Given the description of an element on the screen output the (x, y) to click on. 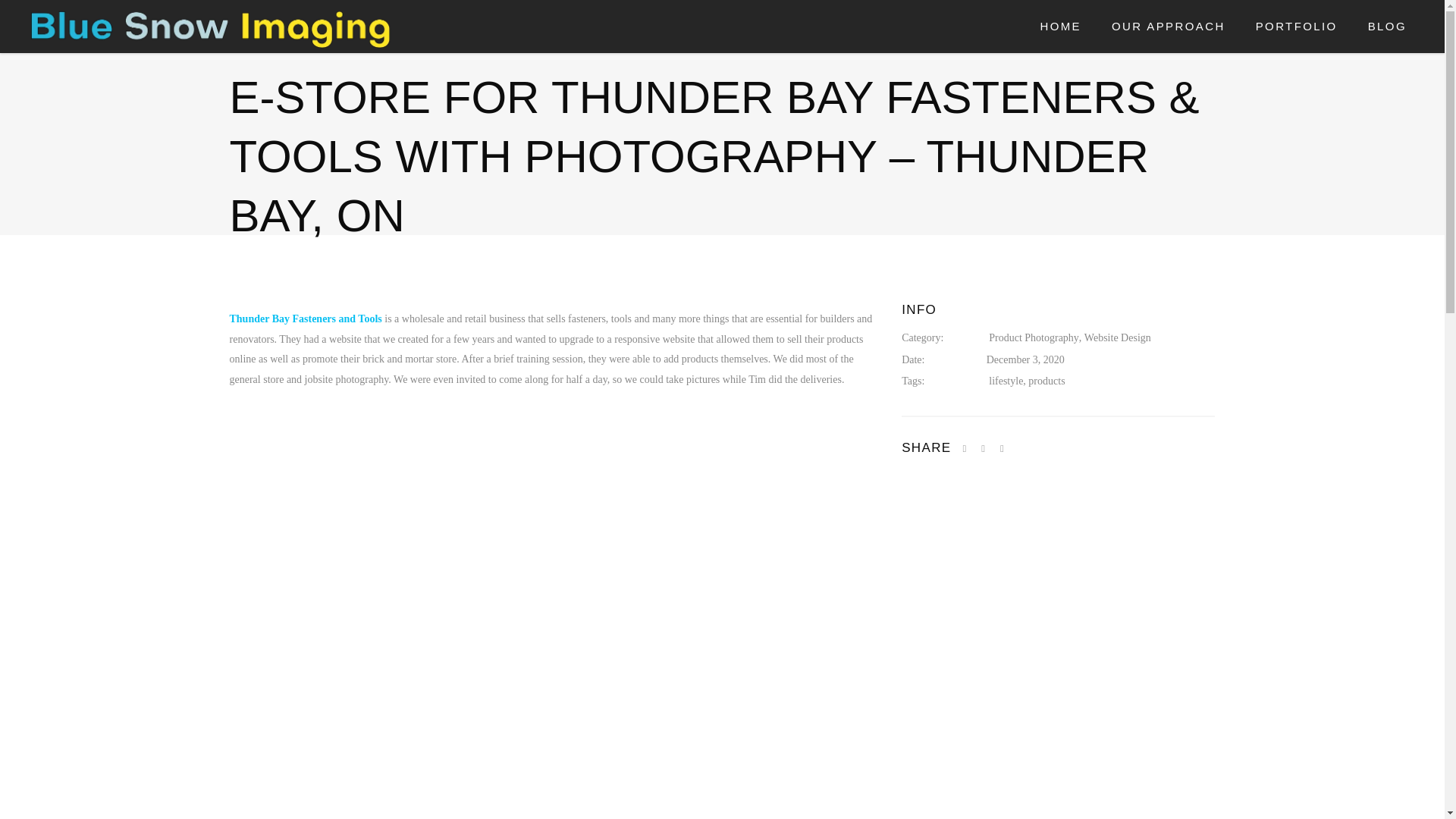
products (1045, 381)
HOME (1060, 26)
Product Photography (1033, 338)
PORTFOLIO (1296, 26)
lifestyle (1005, 381)
OUR APPROACH (1168, 26)
BLOG (1387, 26)
Thunder Bay Fasteners and Tools (304, 318)
Website Design (1117, 338)
